Given the description of an element on the screen output the (x, y) to click on. 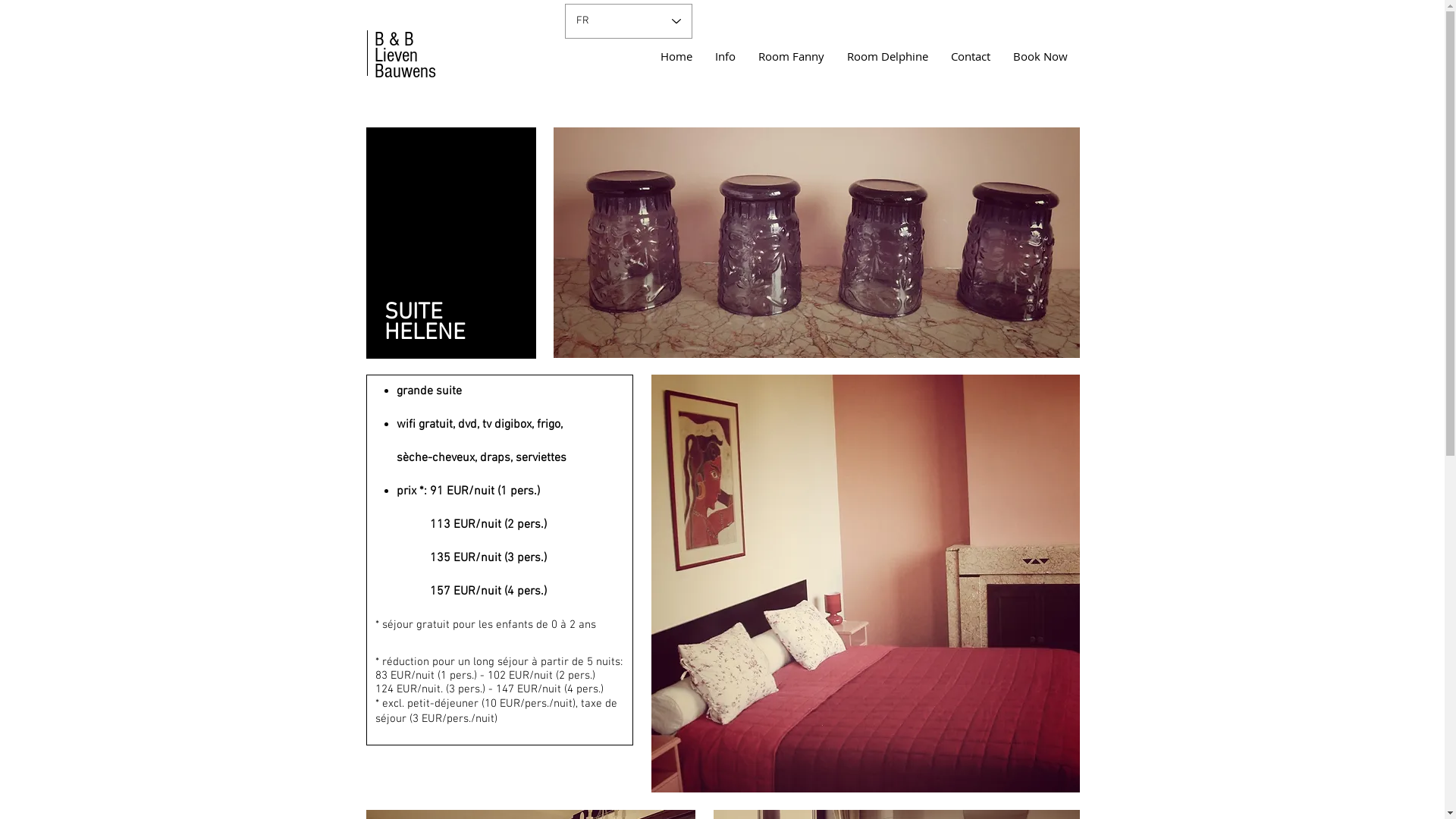
Room Fanny Element type: text (790, 55)
Home Element type: text (676, 55)
Room Delphine Element type: text (887, 55)
Info Element type: text (724, 55)
1h_Fotor.jpg Element type: hover (864, 583)
Contact Element type: text (969, 55)
Book Now Element type: text (1039, 55)
DSC02900_Fotor.jpg Element type: hover (816, 242)
